Given the description of an element on the screen output the (x, y) to click on. 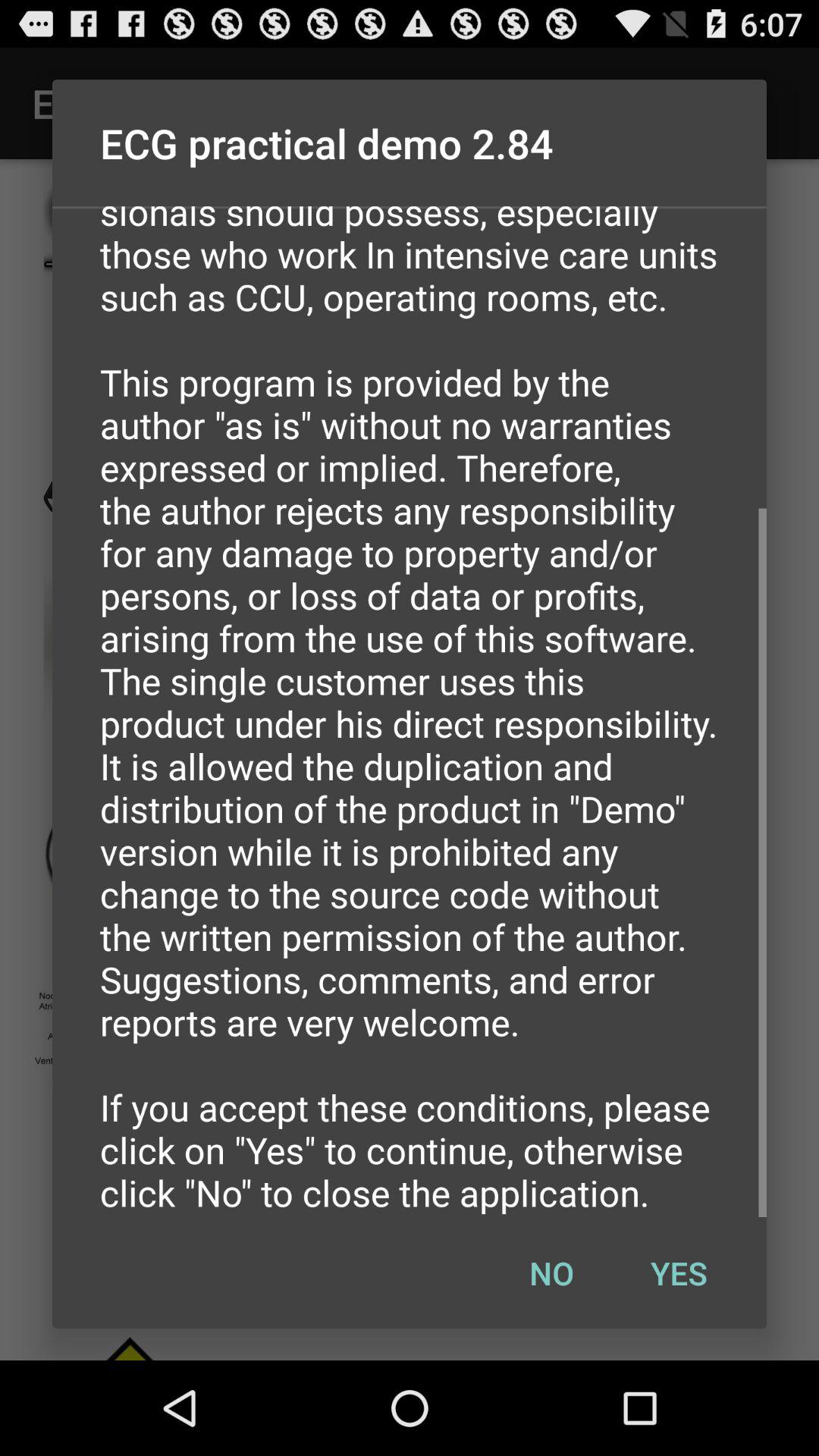
open icon next to the no button (678, 1272)
